Given the description of an element on the screen output the (x, y) to click on. 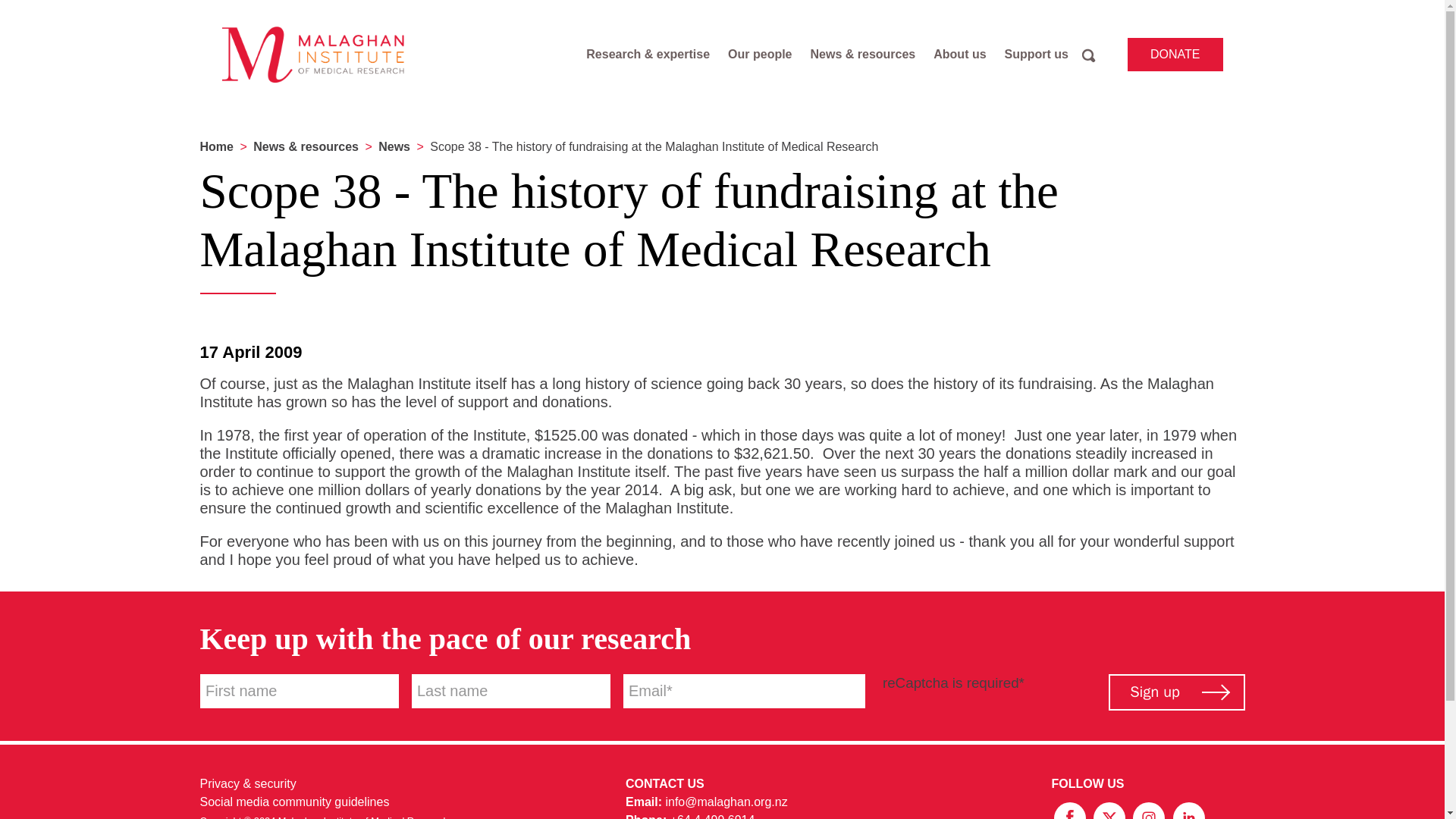
Facebook (1070, 814)
Instagram (1150, 814)
LinkedIn (1188, 814)
Our people (760, 54)
X (1110, 814)
